Given the description of an element on the screen output the (x, y) to click on. 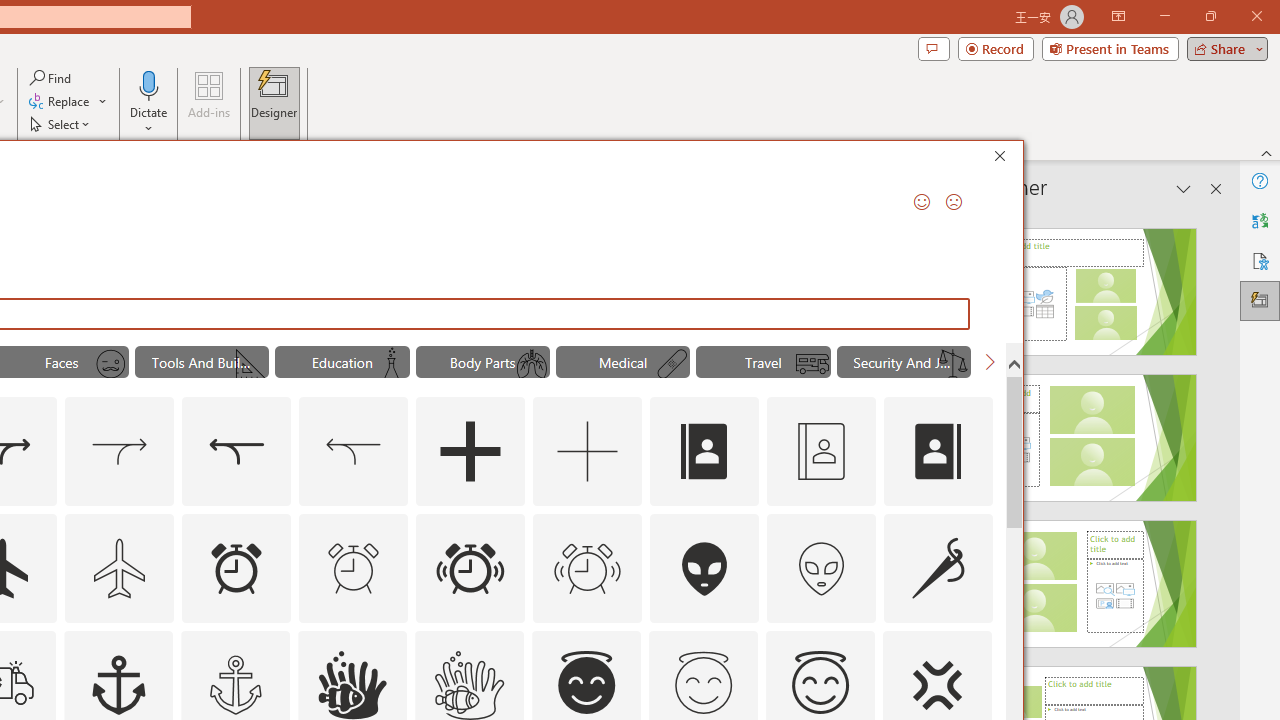
AutomationID: Icons_AddressBook_LTR_M (821, 452)
AutomationID: Icons_TriangleRuler_M (250, 364)
Select (61, 124)
AutomationID: Icons_AdhesiveBandage_M (671, 364)
AutomationID: Icons_Airplane_M (120, 568)
